Given the description of an element on the screen output the (x, y) to click on. 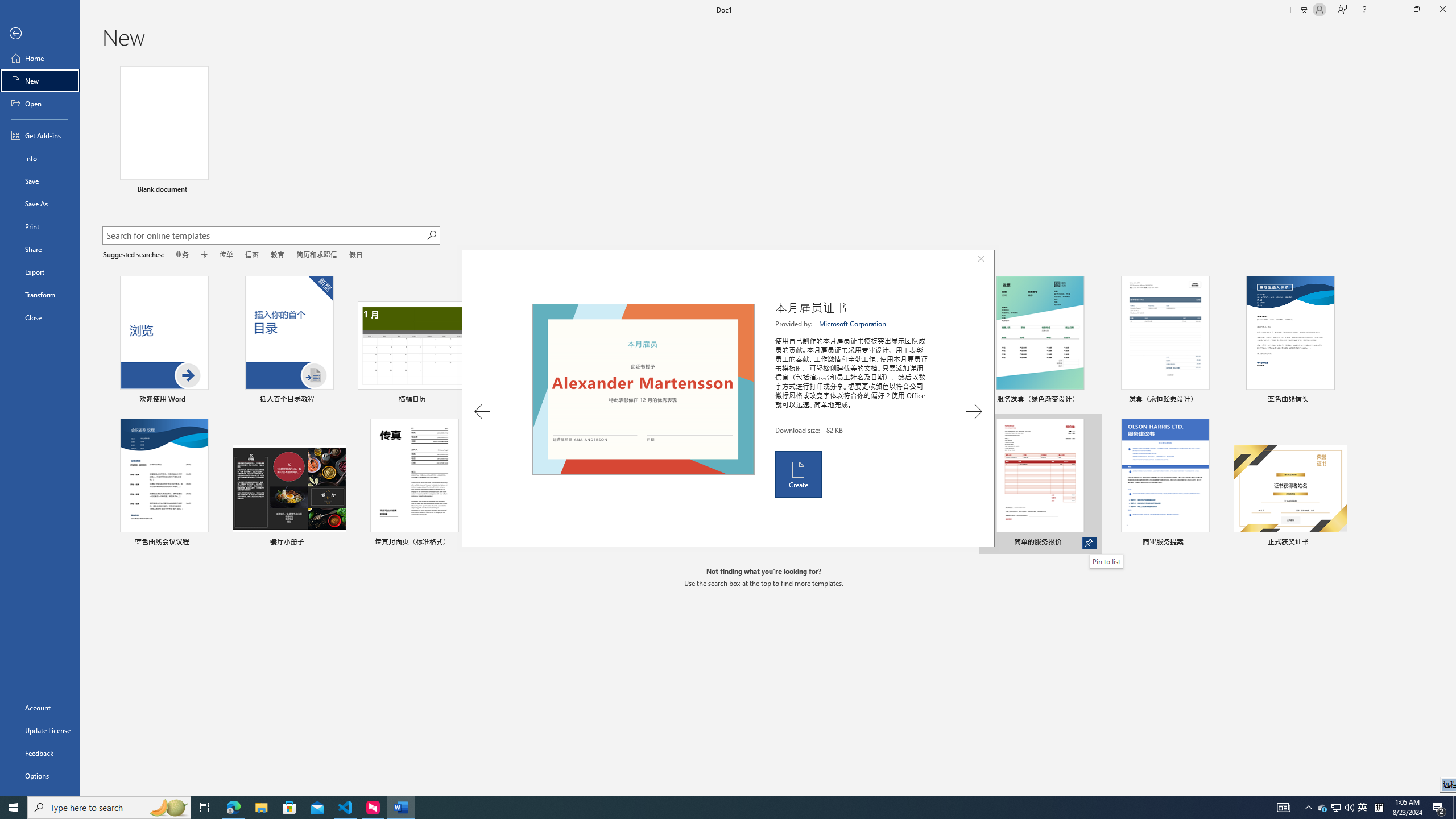
New (40, 80)
Save As (40, 203)
Previous Template (481, 411)
Info (40, 157)
Pin to list (1105, 561)
